Given the description of an element on the screen output the (x, y) to click on. 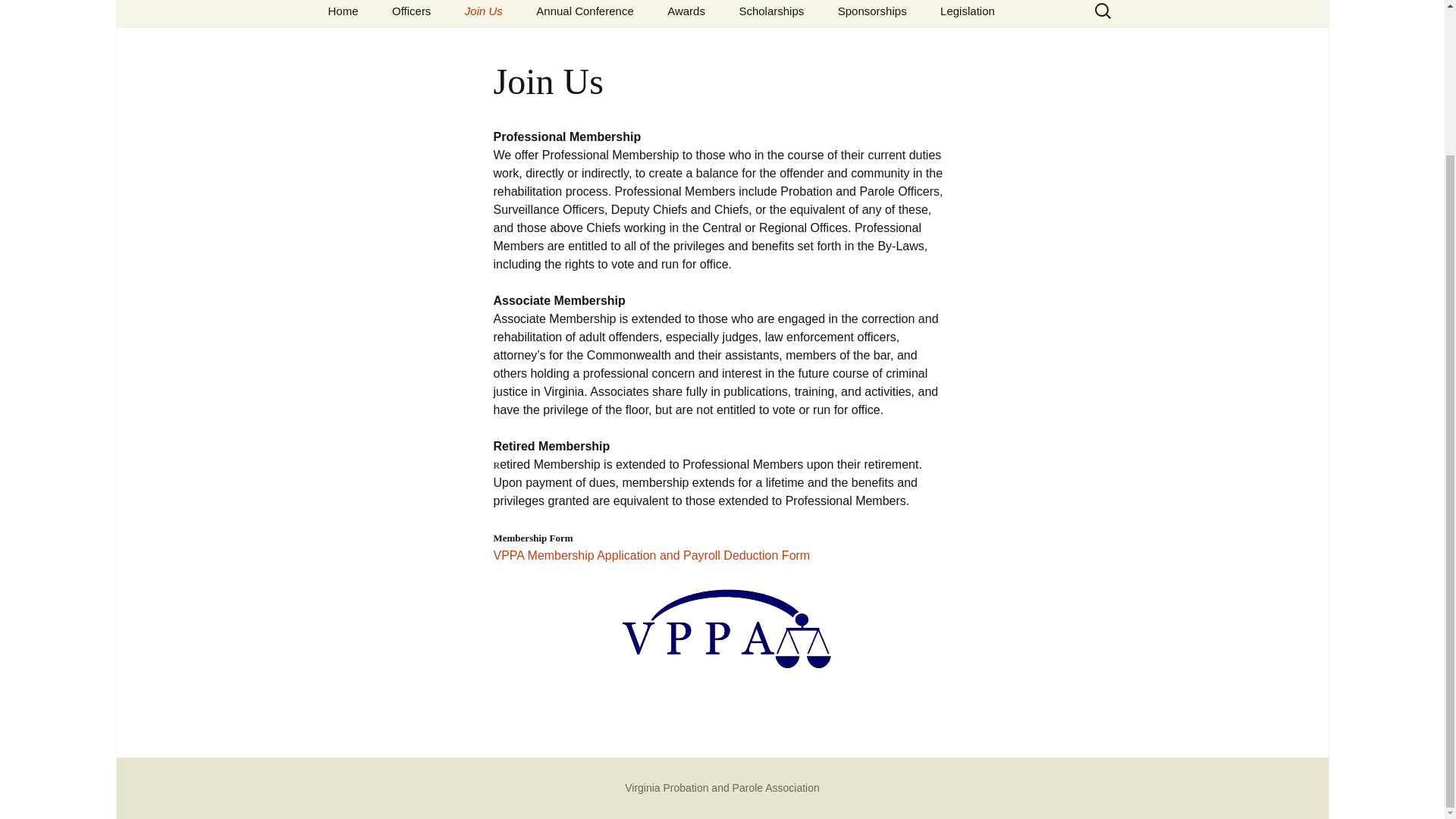
Join Us (483, 13)
Virginia Probation and Parole Association (721, 787)
Scholarships (770, 13)
Annual Conference (584, 13)
VPPA Membership Application and Payroll Deduction Form (651, 554)
Sponsorships (871, 13)
Home (342, 13)
